Given the description of an element on the screen output the (x, y) to click on. 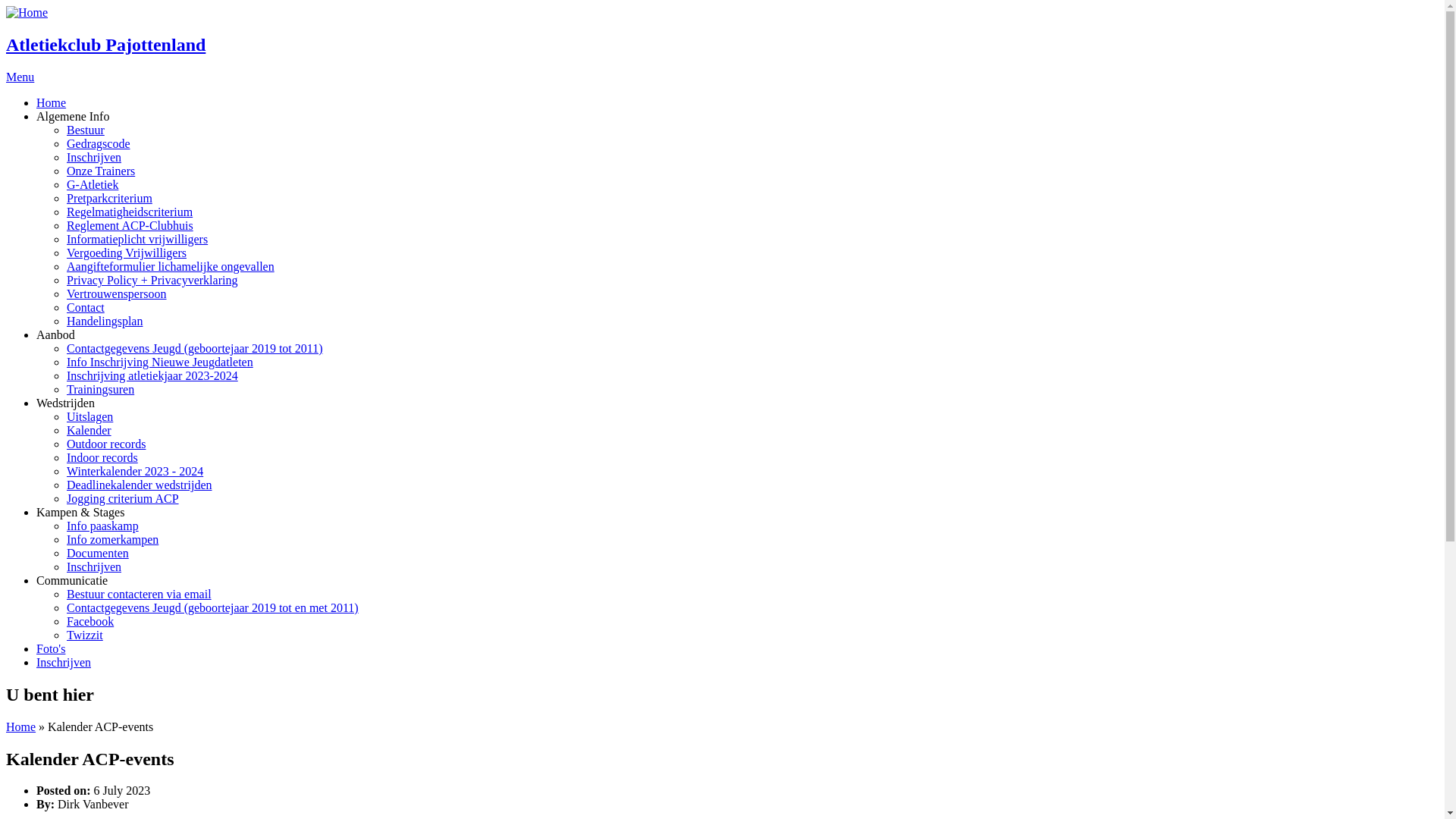
Bestuur Element type: text (85, 129)
Jogging criterium ACP Element type: text (122, 498)
Aangifteformulier lichamelijke ongevallen Element type: text (170, 266)
Inschrijven Element type: text (93, 566)
Privacy Policy + Privacyverklaring Element type: text (151, 279)
Home Element type: text (50, 102)
Vergoeding Vrijwilligers Element type: text (126, 252)
Bestuur contacteren via email Element type: text (138, 593)
Gedragscode Element type: text (98, 143)
Inschrijven Element type: text (93, 156)
Pretparkcriterium Element type: text (109, 197)
Inschrijven Element type: text (63, 661)
Info Inschrijving Nieuwe Jeugdatleten Element type: text (159, 361)
Home Element type: text (20, 726)
Regelmatigheidscriterium Element type: text (129, 211)
Twizzit Element type: text (84, 634)
Trainingsuren Element type: text (100, 388)
Menu Element type: text (20, 76)
G-Atletiek Element type: text (92, 184)
Winterkalender 2023 - 2024 Element type: text (134, 470)
Deadlinekalender wedstrijden Element type: text (138, 484)
Onze Trainers Element type: text (100, 170)
Reglement ACP-Clubhuis Element type: text (129, 225)
Inschrijving atletiekjaar 2023-2024 Element type: text (152, 375)
Handelingsplan Element type: text (104, 320)
Outdoor records Element type: text (105, 443)
Contactgegevens Jeugd (geboortejaar 2019 tot en met 2011) Element type: text (212, 607)
Documenten Element type: text (97, 552)
Informatieplicht vrijwilligers Element type: text (136, 238)
Vertrouwenspersoon Element type: text (116, 293)
Info paaskamp Element type: text (102, 525)
Contact Element type: text (85, 307)
Kalender Element type: text (88, 429)
Facebook Element type: text (89, 621)
Home Element type: hover (26, 12)
Uitslagen Element type: text (89, 416)
Foto's Element type: text (50, 648)
Atletiekclub Pajottenland Element type: text (105, 44)
Indoor records Element type: text (102, 457)
Info zomerkampen Element type: text (112, 539)
Contactgegevens Jeugd (geboortejaar 2019 tot 2011) Element type: text (194, 348)
